Given the description of an element on the screen output the (x, y) to click on. 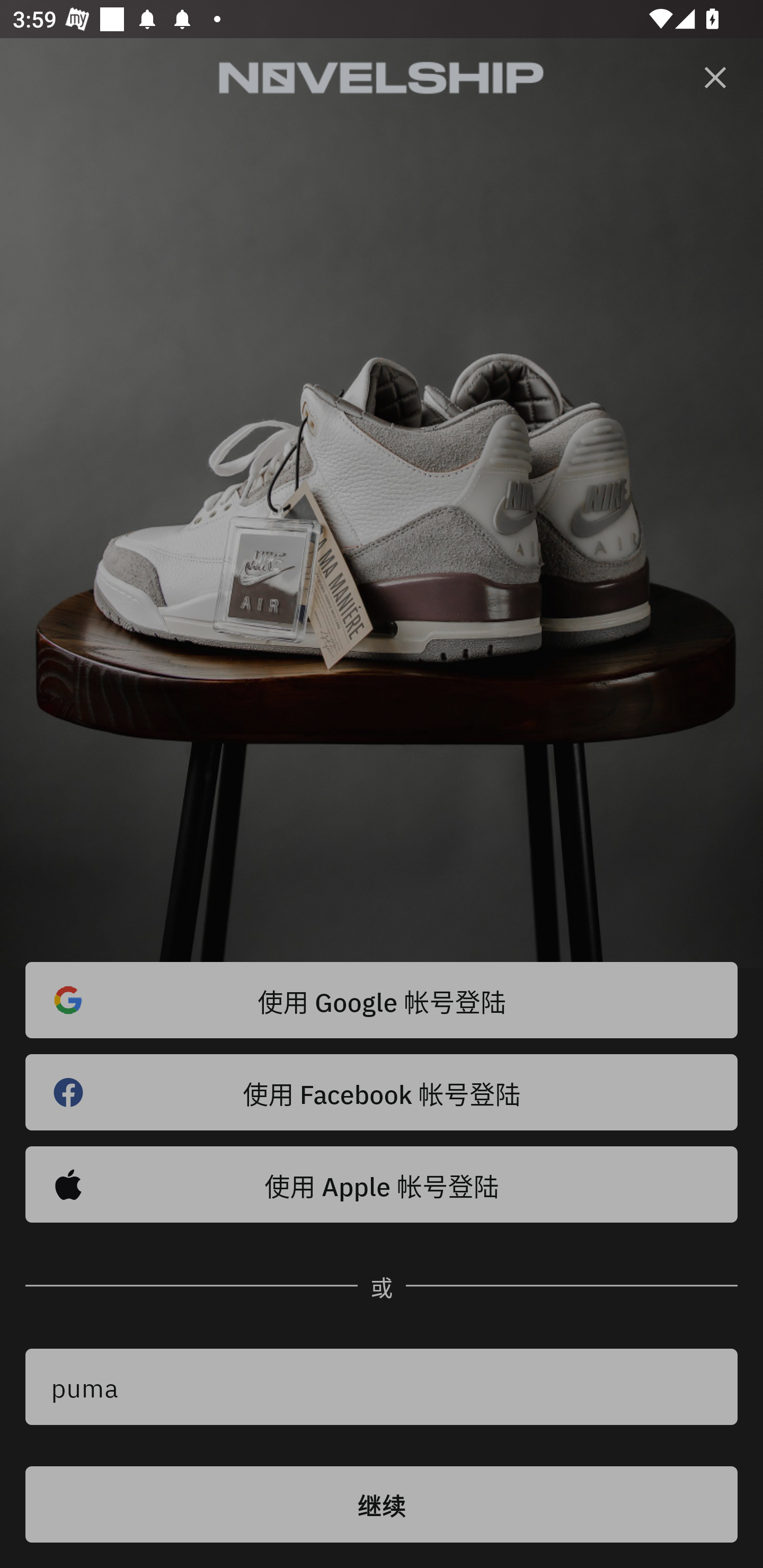
使用 Google 帐号登陆 (381, 1000)
使用 Facebook 帐号登陆 󰈌 (381, 1091)
 使用 Apple 帐号登陆 (381, 1184)
puma (381, 1386)
继续 (381, 1504)
